Given the description of an element on the screen output the (x, y) to click on. 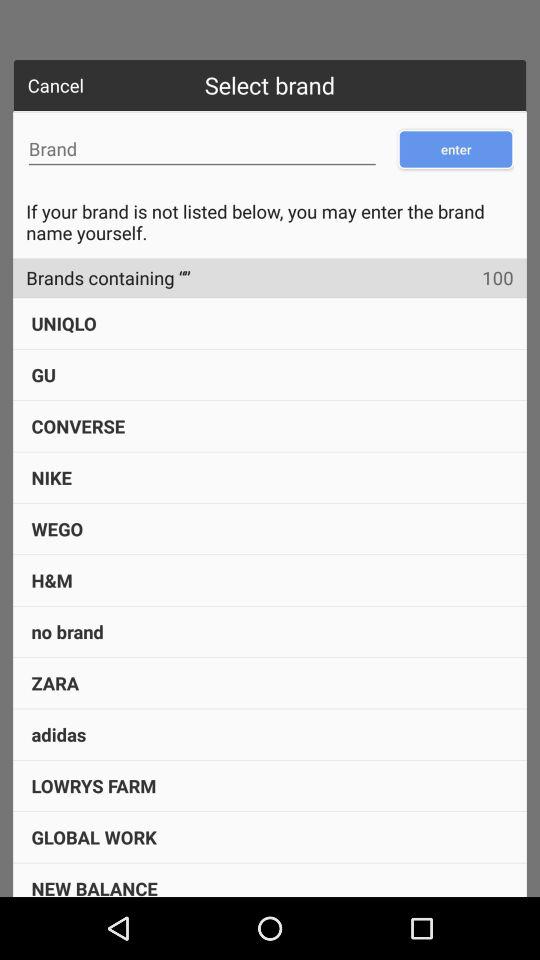
press the icon below the zara icon (58, 734)
